Given the description of an element on the screen output the (x, y) to click on. 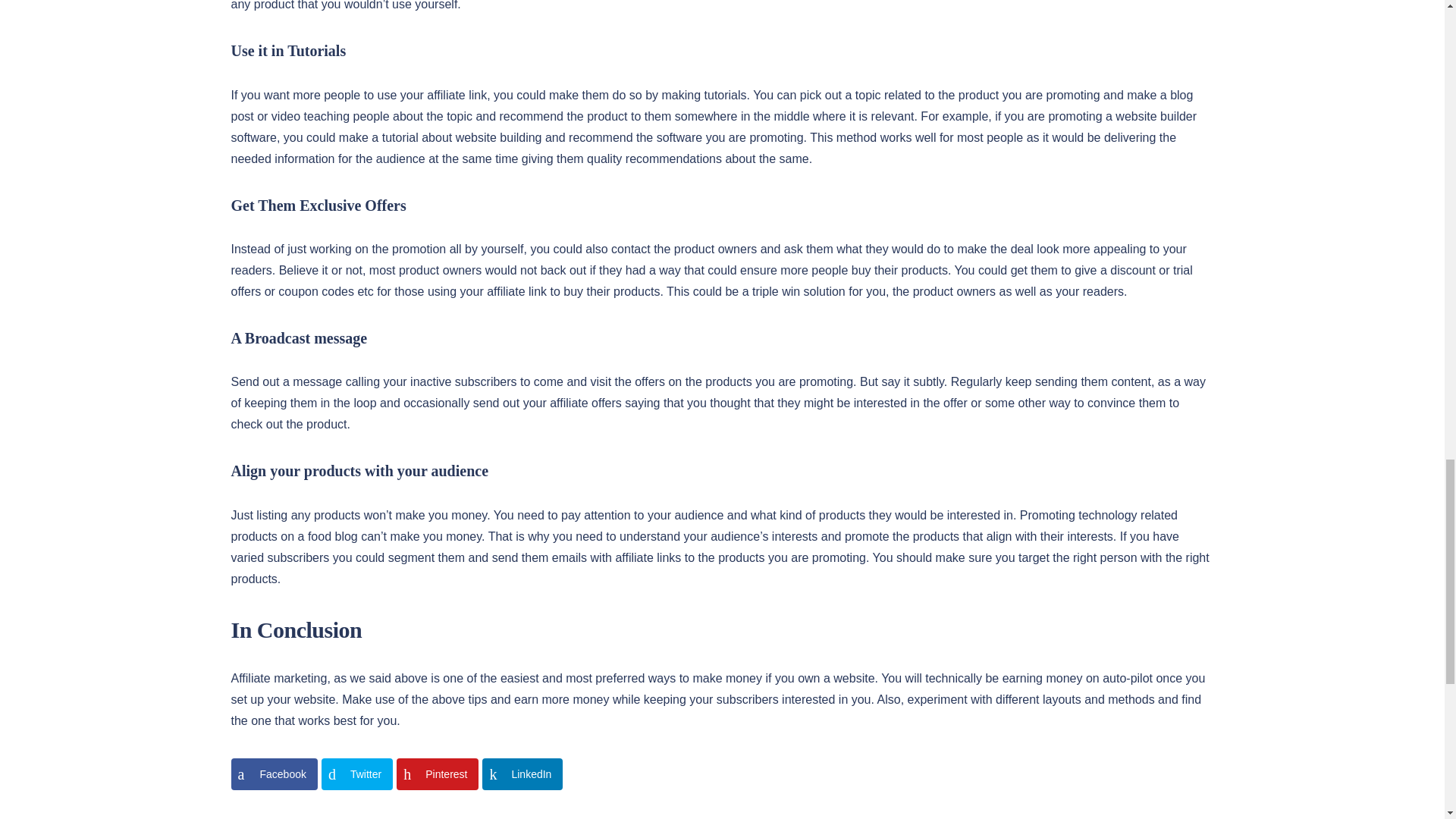
Share on Pinterest (437, 774)
Share on LinkedIn (521, 774)
Share on Facebook (273, 774)
Share on Twitter (357, 774)
Facebook (273, 774)
